Given the description of an element on the screen output the (x, y) to click on. 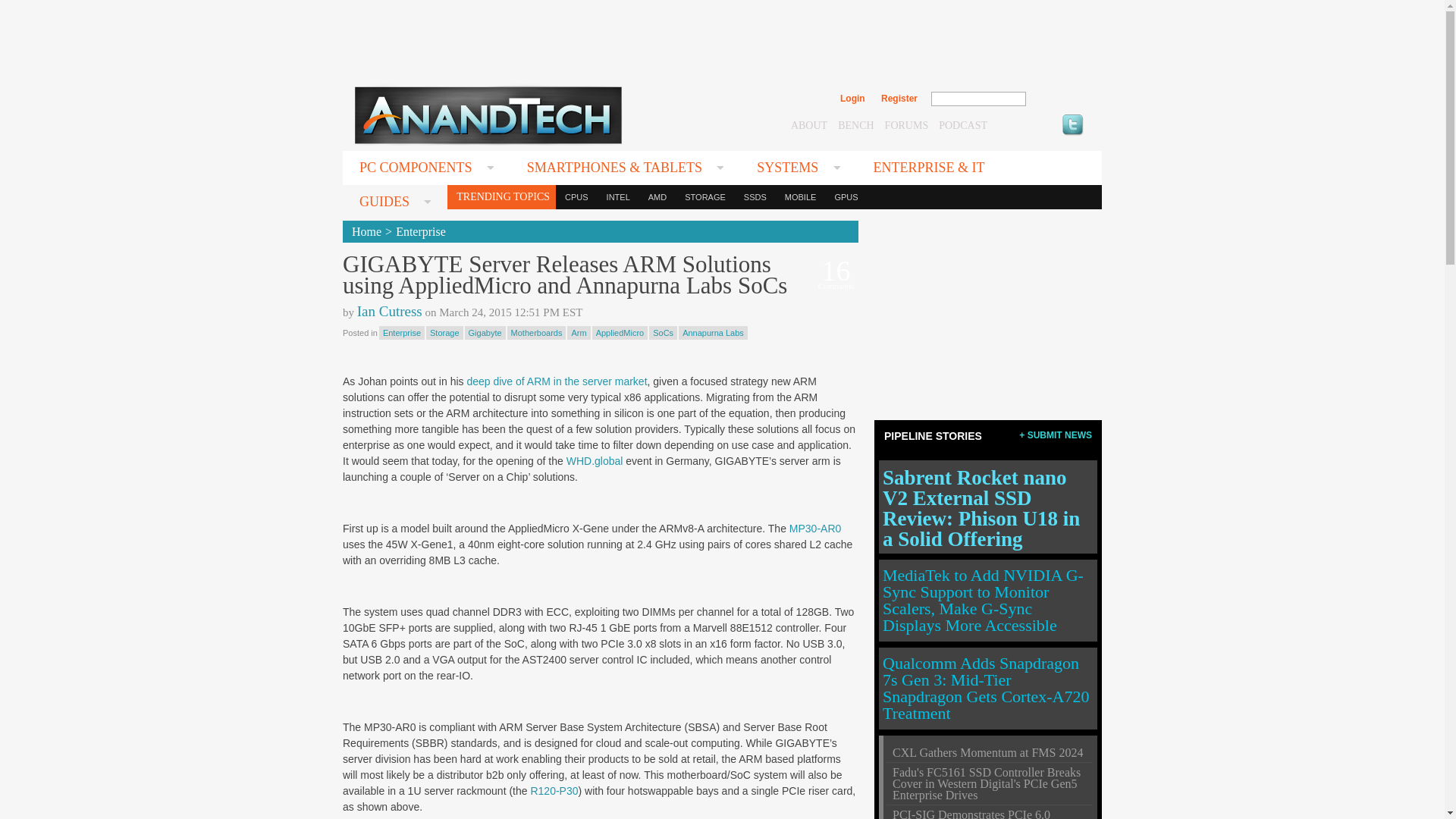
PODCAST (963, 125)
search (1059, 98)
FORUMS (906, 125)
Register (898, 98)
search (1059, 98)
BENCH (855, 125)
Login (852, 98)
search (1059, 98)
ABOUT (808, 125)
